Given the description of an element on the screen output the (x, y) to click on. 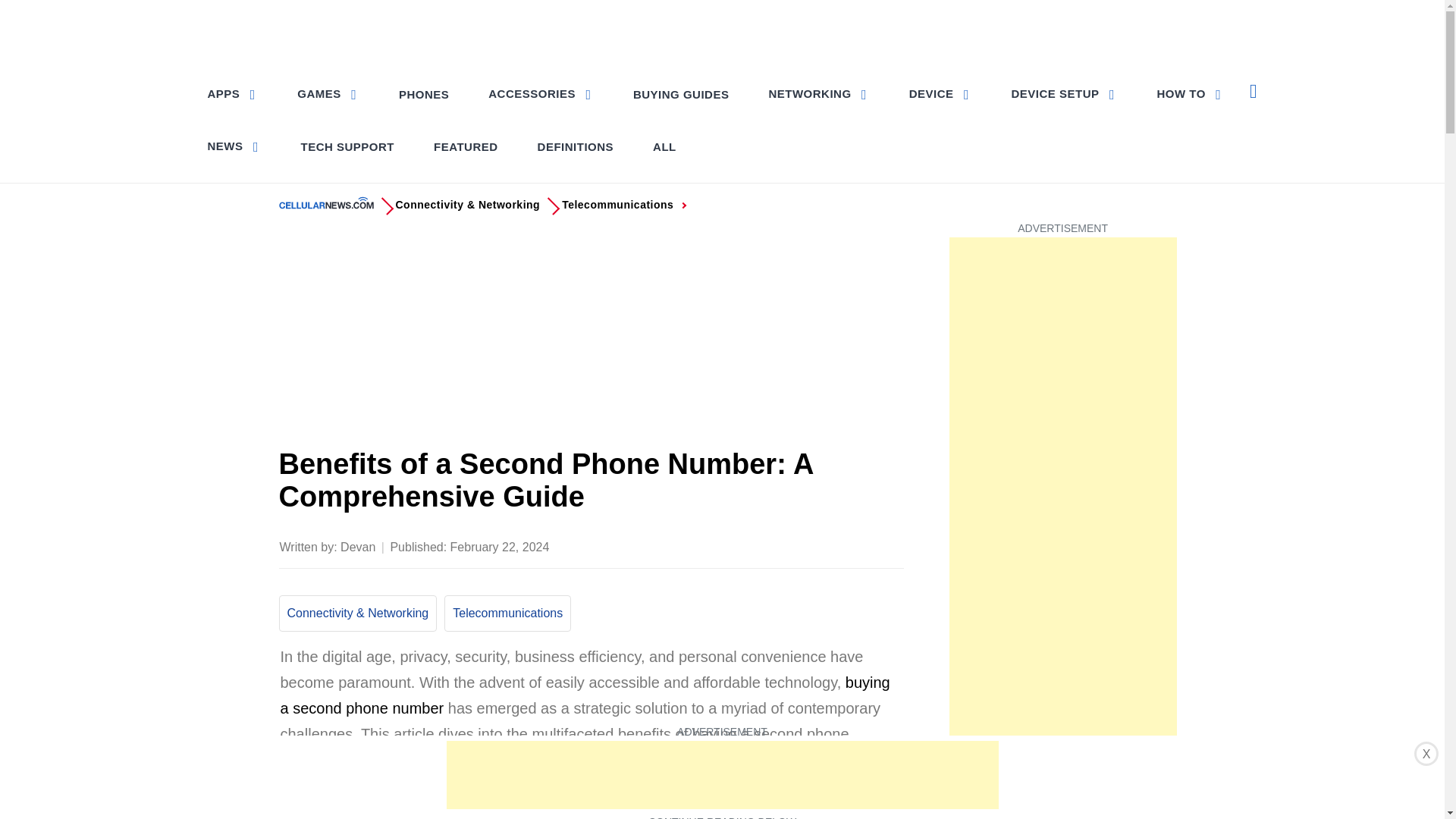
Copy to Clipboard (860, 544)
Share on twitter (769, 544)
Share on Whatsapp (829, 544)
Share on Pinterest (800, 544)
DEVICE (940, 93)
Share on facebook (740, 544)
Mail the Link (890, 544)
BUYING GUIDES (681, 94)
GAMES (327, 93)
APPS (233, 93)
PHONES (424, 94)
NETWORKING (818, 93)
ACCESSORIES (540, 93)
